Given the description of an element on the screen output the (x, y) to click on. 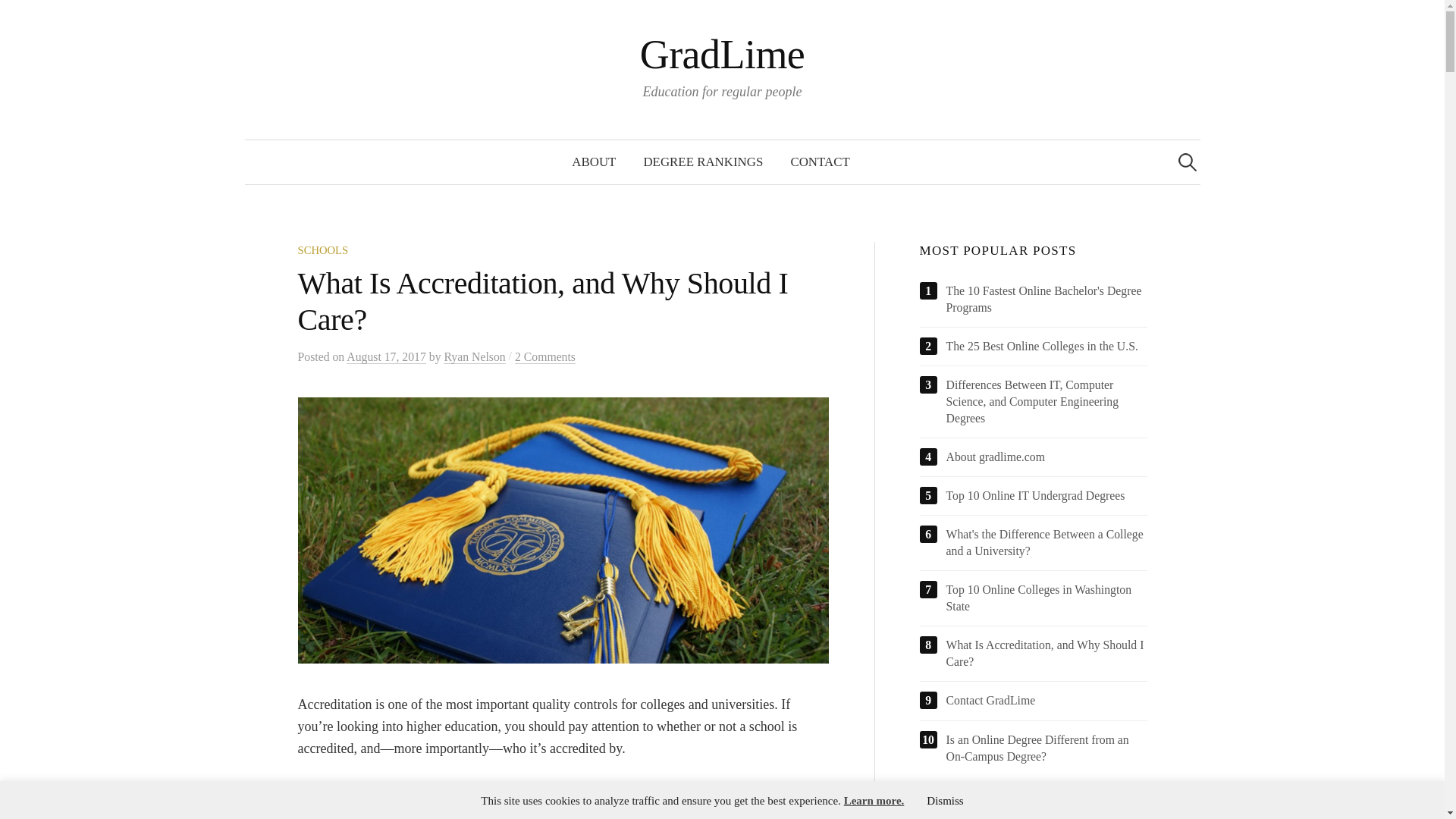
SCHOOLS (322, 250)
View all posts by Ryan Nelson (474, 356)
DEGREE RANKINGS (702, 162)
2 Comments (545, 356)
CONTACT (819, 162)
Search (18, 18)
August 17, 2017 (386, 356)
Ryan Nelson (474, 356)
ABOUT (592, 162)
GradLime (722, 53)
